Given the description of an element on the screen output the (x, y) to click on. 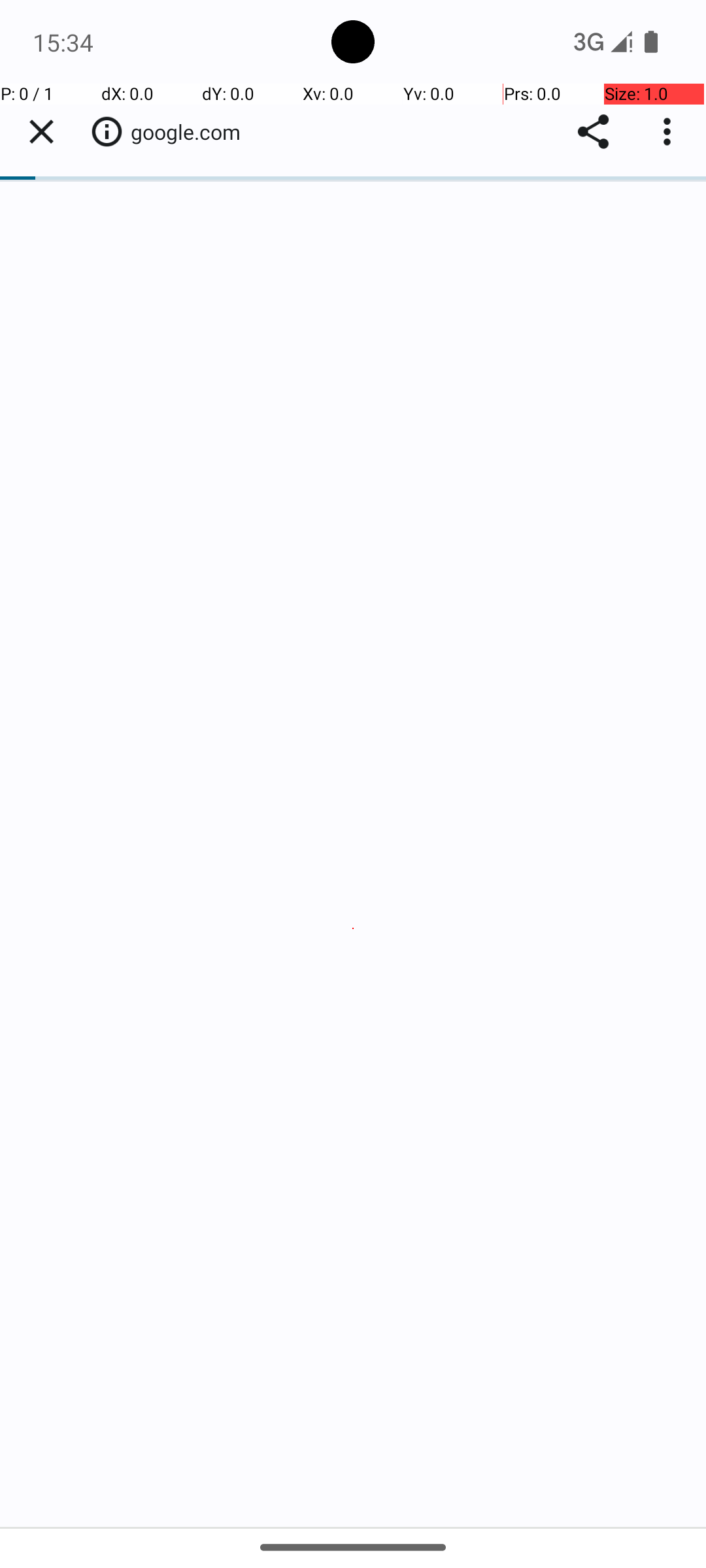
Web View Element type: android.widget.FrameLayout (353, 804)
Close tab Element type: android.widget.ImageButton (41, 131)
Your connection to this site is not secure Element type: android.widget.ImageButton (106, 131)
Share Element type: android.widget.ImageButton (593, 131)
More options Element type: android.widget.ImageButton (670, 131)
google.com Element type: android.widget.TextView (192, 131)
